Given the description of an element on the screen output the (x, y) to click on. 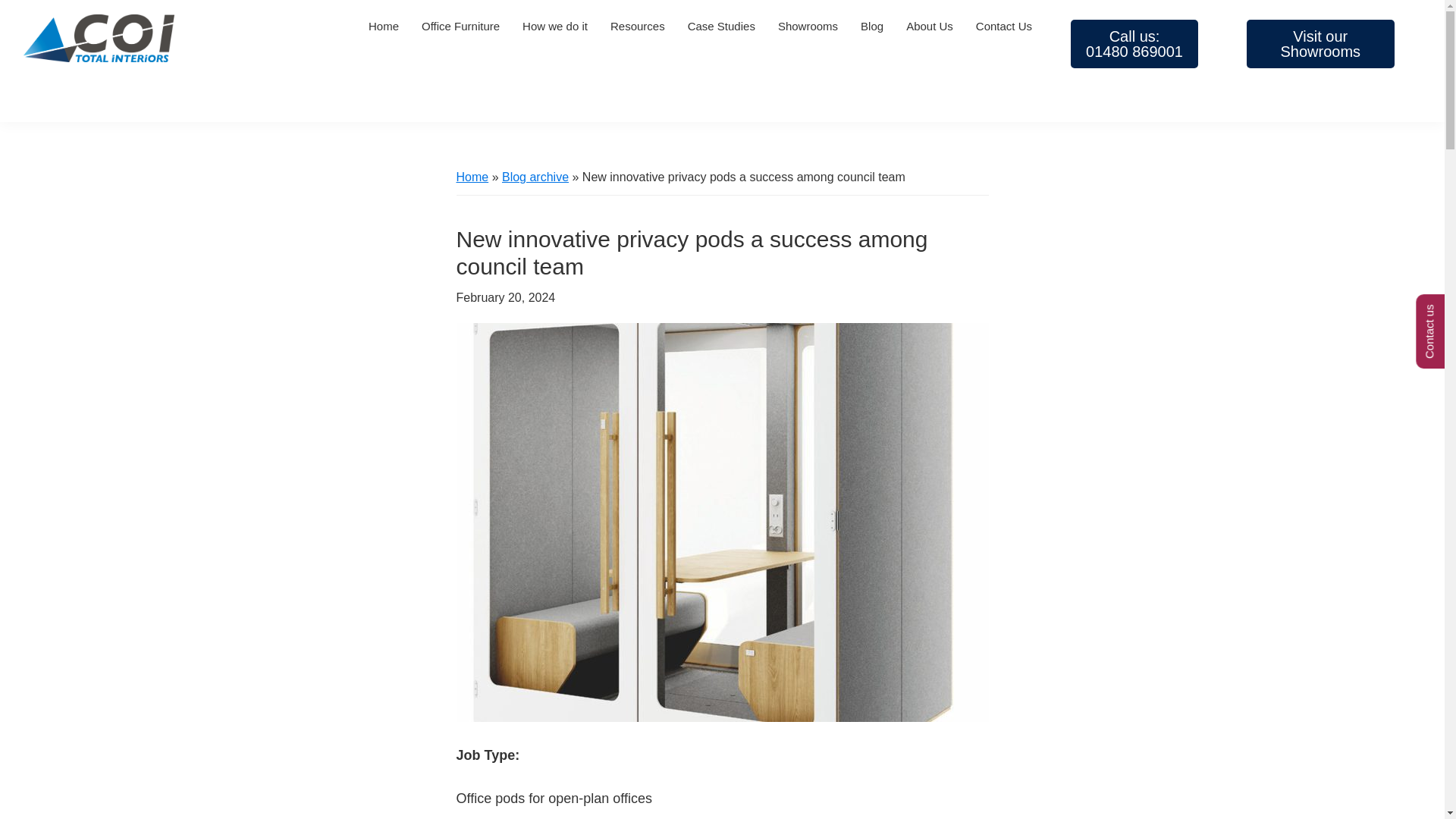
About Us (929, 25)
Resources (1134, 43)
How we do it (637, 25)
Visit our Showrooms (554, 25)
Showrooms (1320, 43)
Office Furniture (807, 25)
Case Studies (460, 25)
Skip to primary navigation (722, 25)
